Given the description of an element on the screen output the (x, y) to click on. 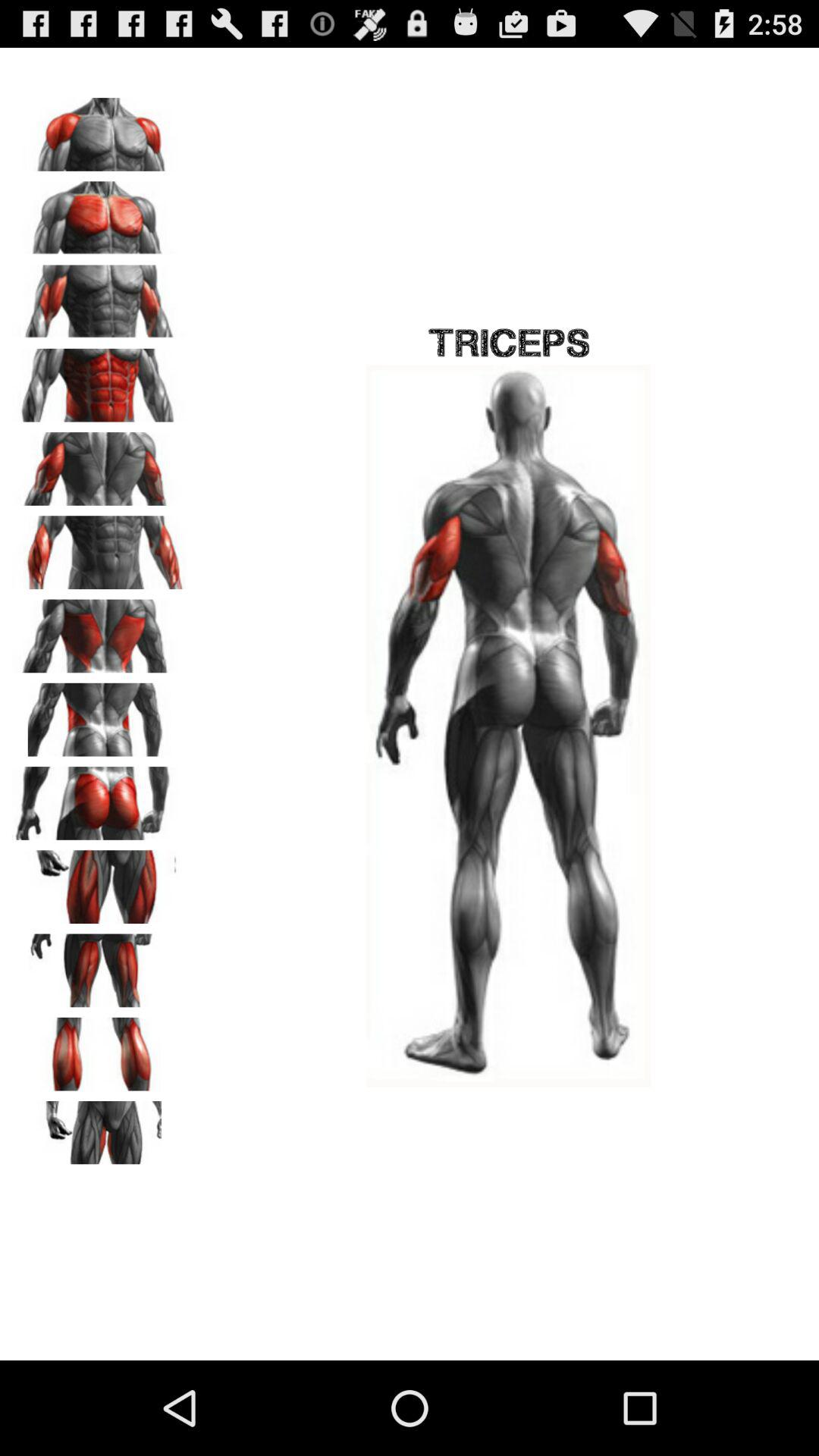
select this muscle group (99, 630)
